Given the description of an element on the screen output the (x, y) to click on. 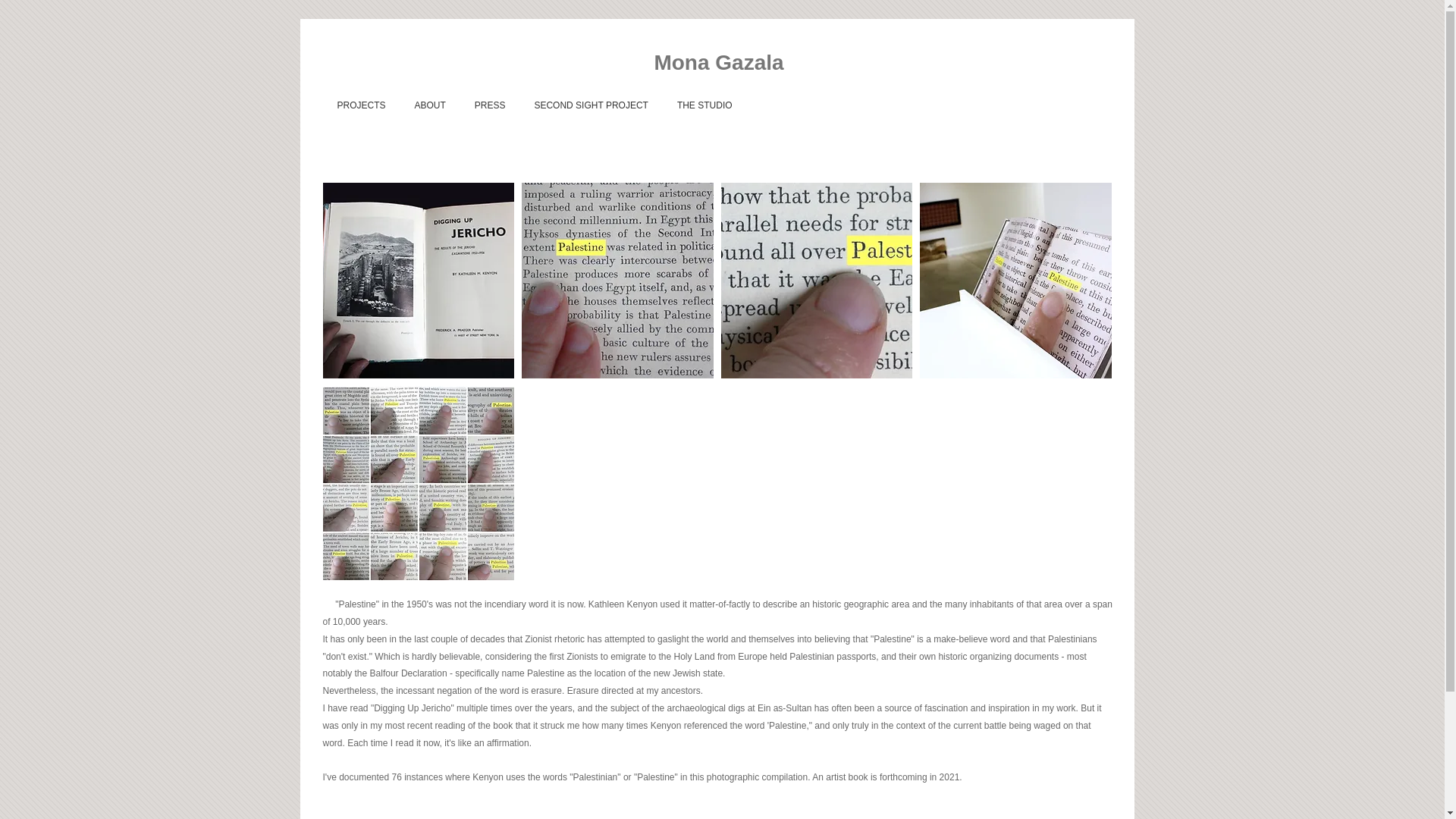
SECOND SIGHT PROJECT (590, 104)
PROJECTS (361, 104)
ABOUT (429, 104)
PRESS (489, 104)
THE STUDIO (704, 104)
